Given the description of an element on the screen output the (x, y) to click on. 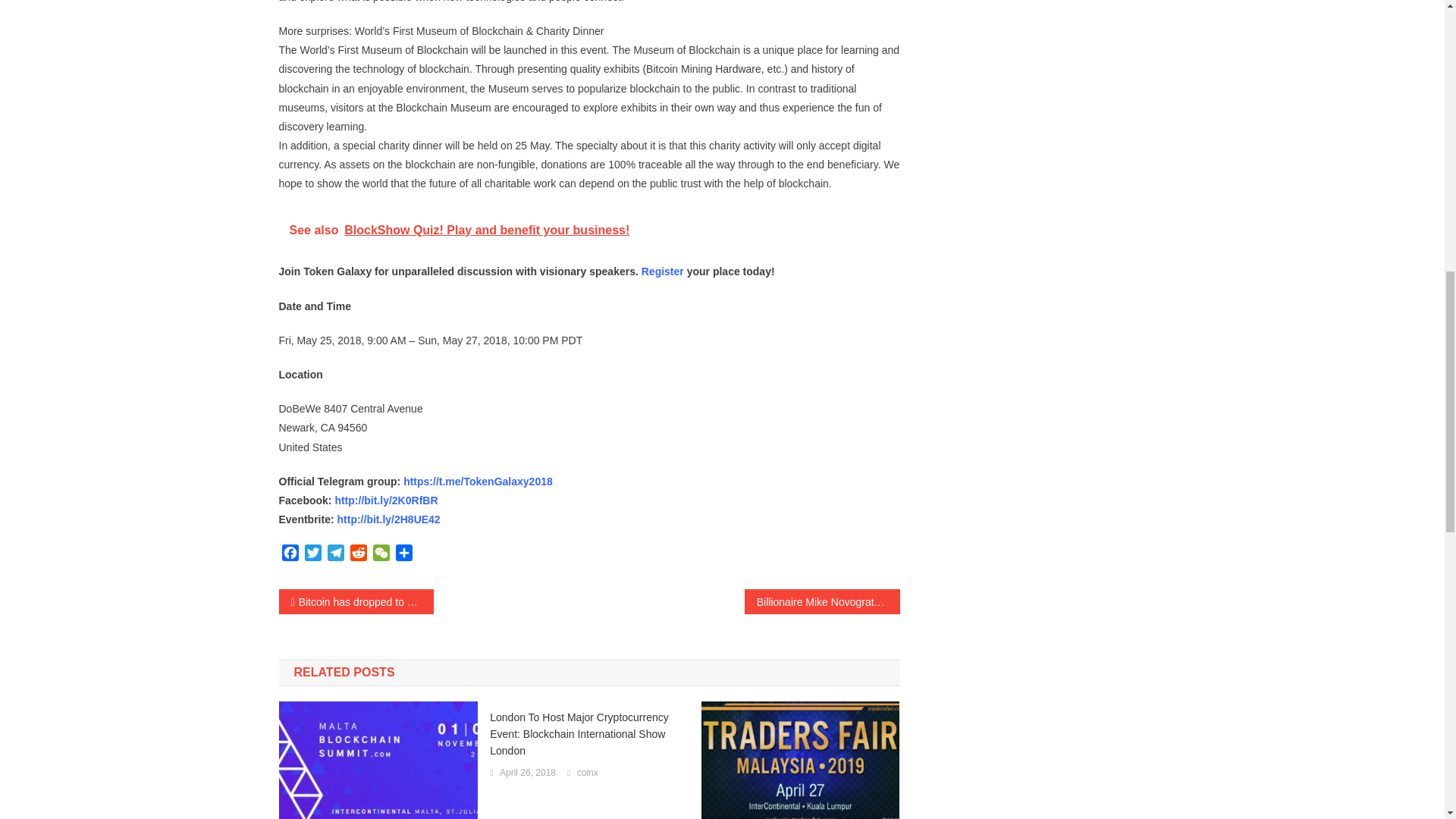
Twitter (312, 554)
Telegram (335, 554)
Reddit (358, 554)
See also  BlockShow Quiz! Play and benefit your business! (589, 230)
WeChat (381, 554)
Register (663, 271)
Telegram (335, 554)
Share (403, 554)
Facebook (290, 554)
Twitter (312, 554)
Reddit (358, 554)
Facebook (290, 554)
WeChat (381, 554)
April 26, 2018 (527, 773)
